Given the description of an element on the screen output the (x, y) to click on. 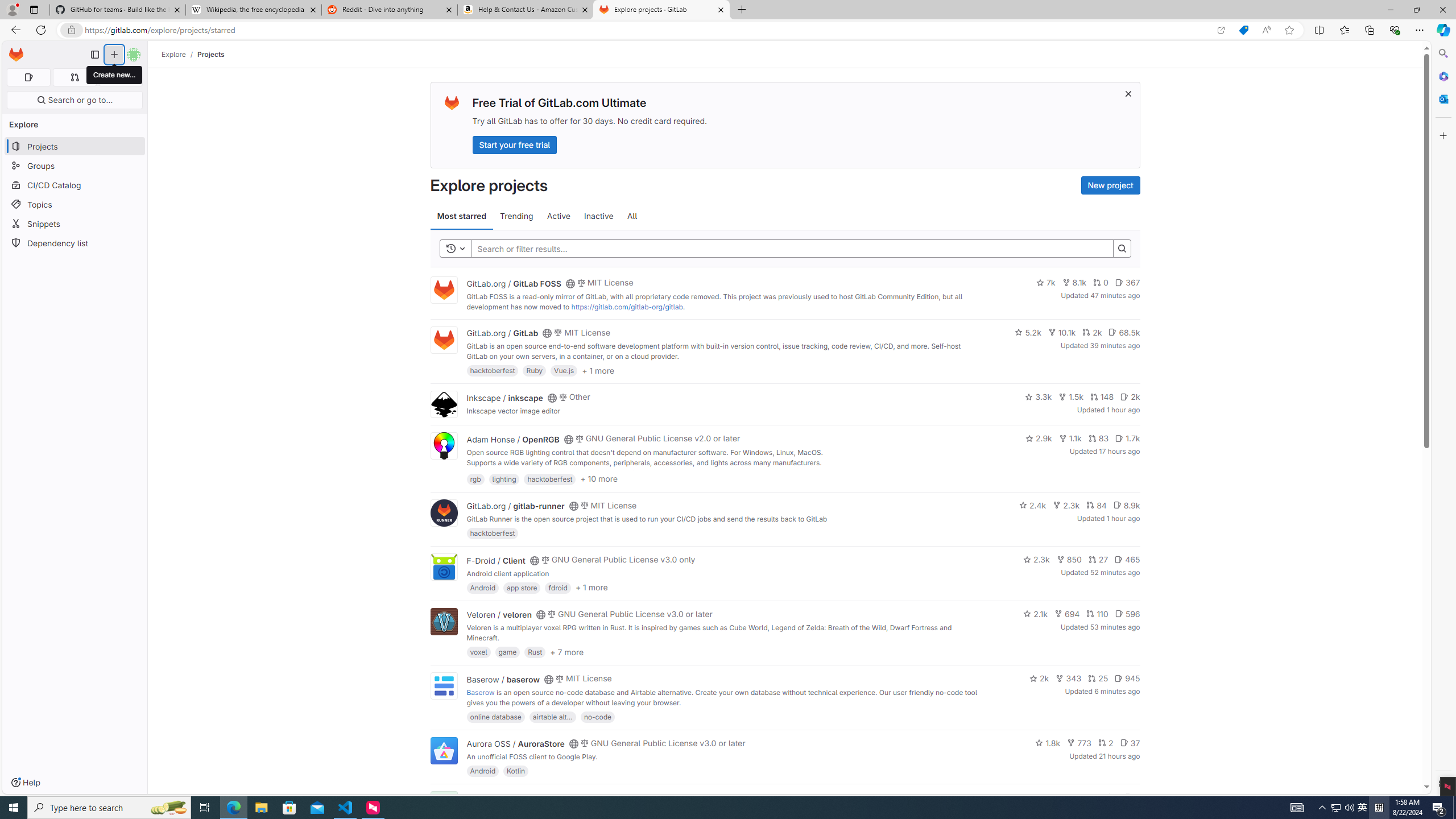
1.5k (1070, 396)
Projects (211, 53)
Class: s14 gl-mr-2 (1128, 796)
6 (1132, 797)
Baserow (480, 691)
https://gitlab.com/gitlab-org/gitlab (626, 306)
CI/CD Catalog (74, 185)
lighting (504, 478)
Class: s16 (568, 798)
773 (1079, 742)
Edouard Klein / falsisign (512, 797)
Wikipedia, the free encyclopedia (253, 9)
1.1k (1069, 438)
